Given the description of an element on the screen output the (x, y) to click on. 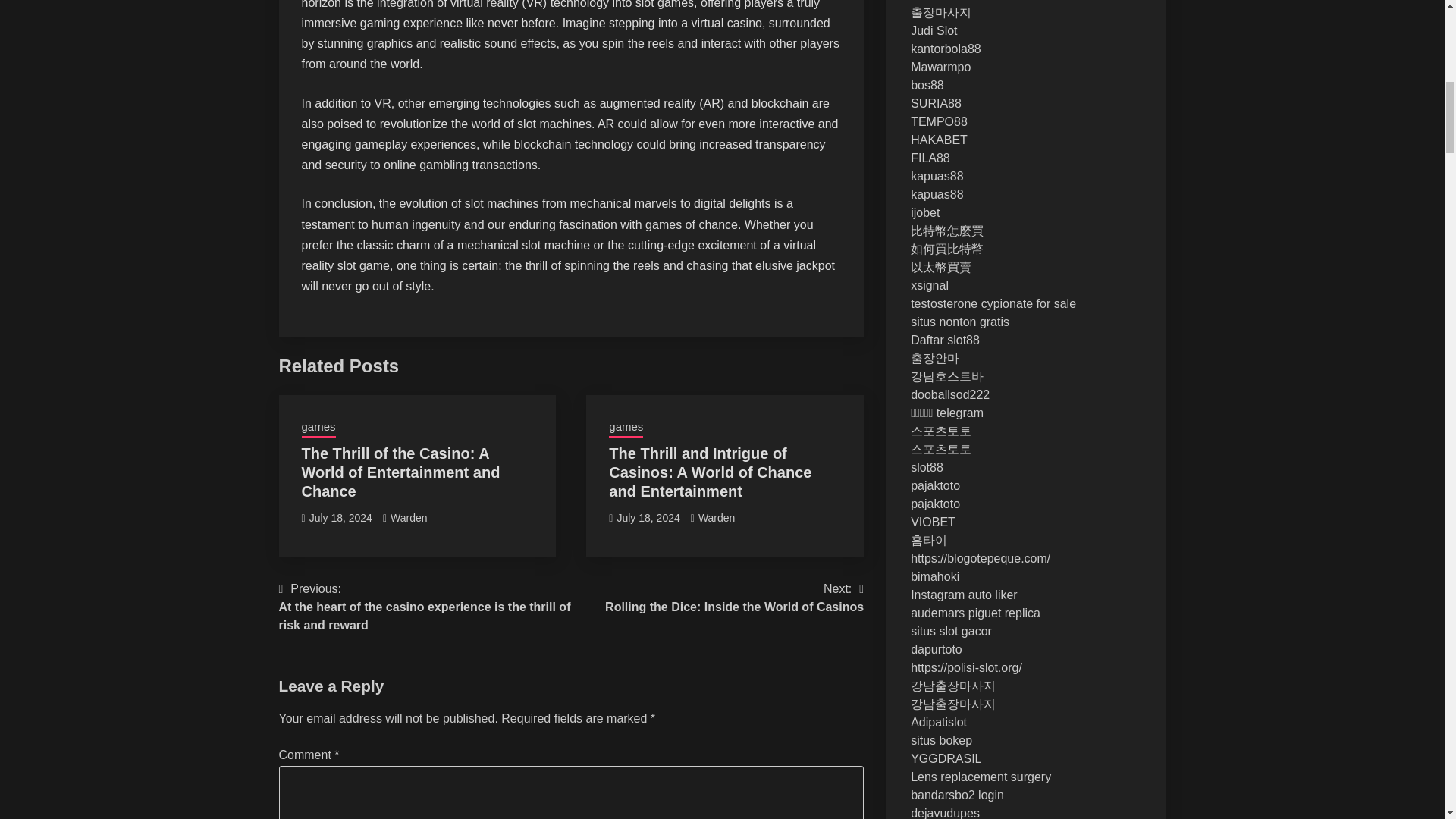
Warden (716, 517)
Warden (734, 597)
games (409, 517)
July 18, 2024 (318, 428)
July 18, 2024 (647, 517)
games (340, 517)
